Given the description of an element on the screen output the (x, y) to click on. 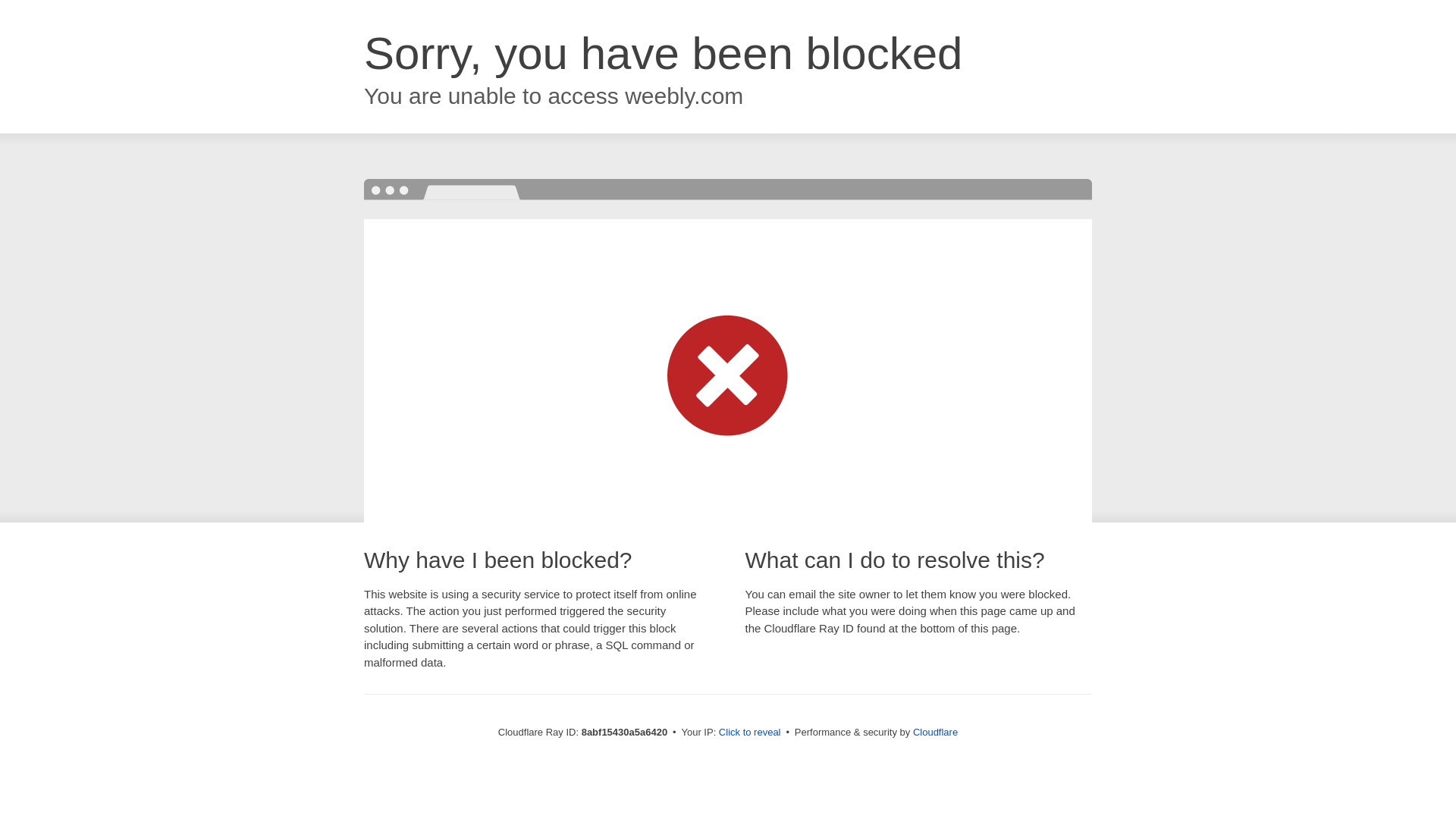
Click to reveal (749, 732)
Cloudflare (935, 731)
